Given the description of an element on the screen output the (x, y) to click on. 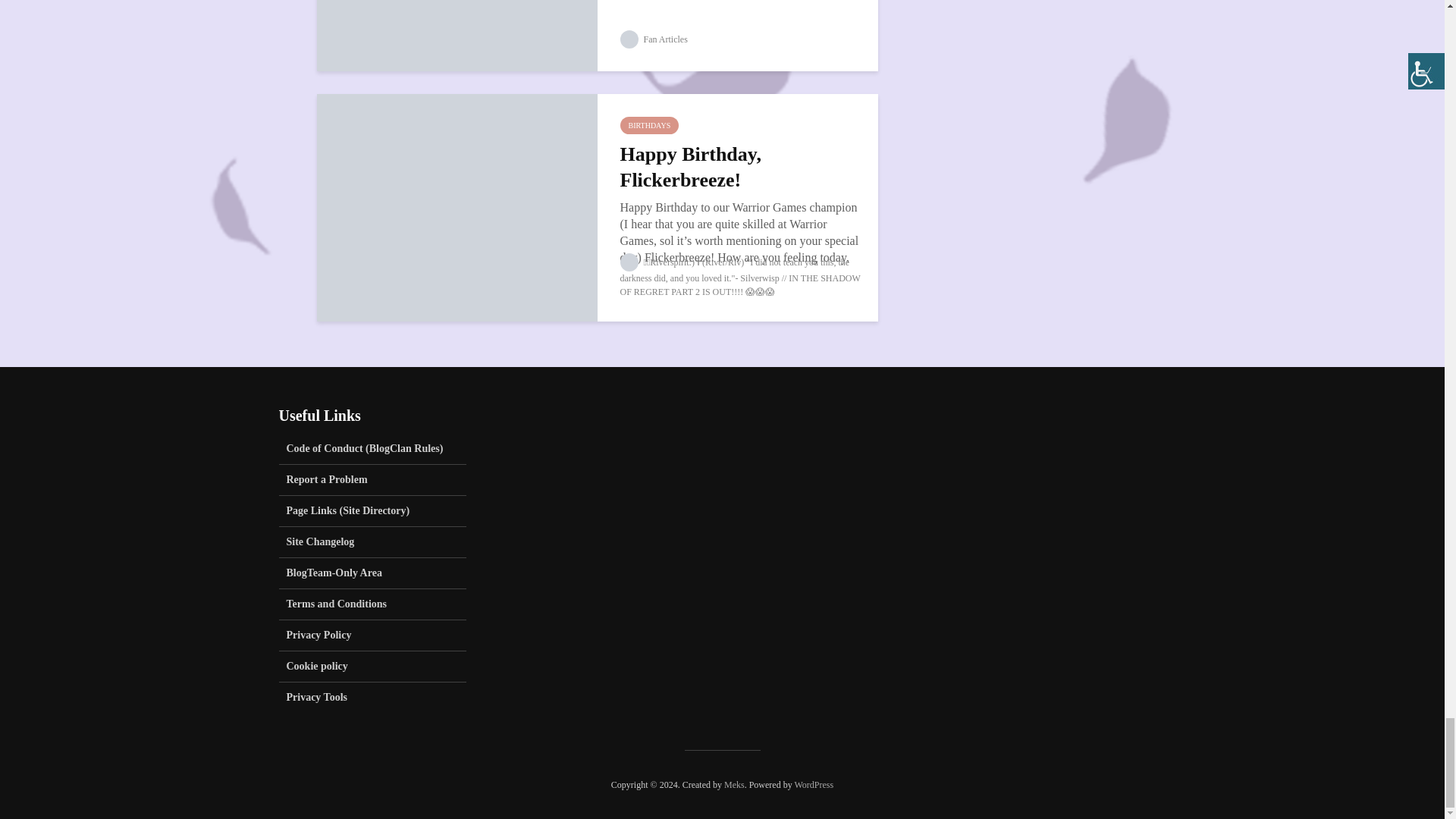
Happy Birthday, Flickerbreeze! (456, 205)
